Given the description of an element on the screen output the (x, y) to click on. 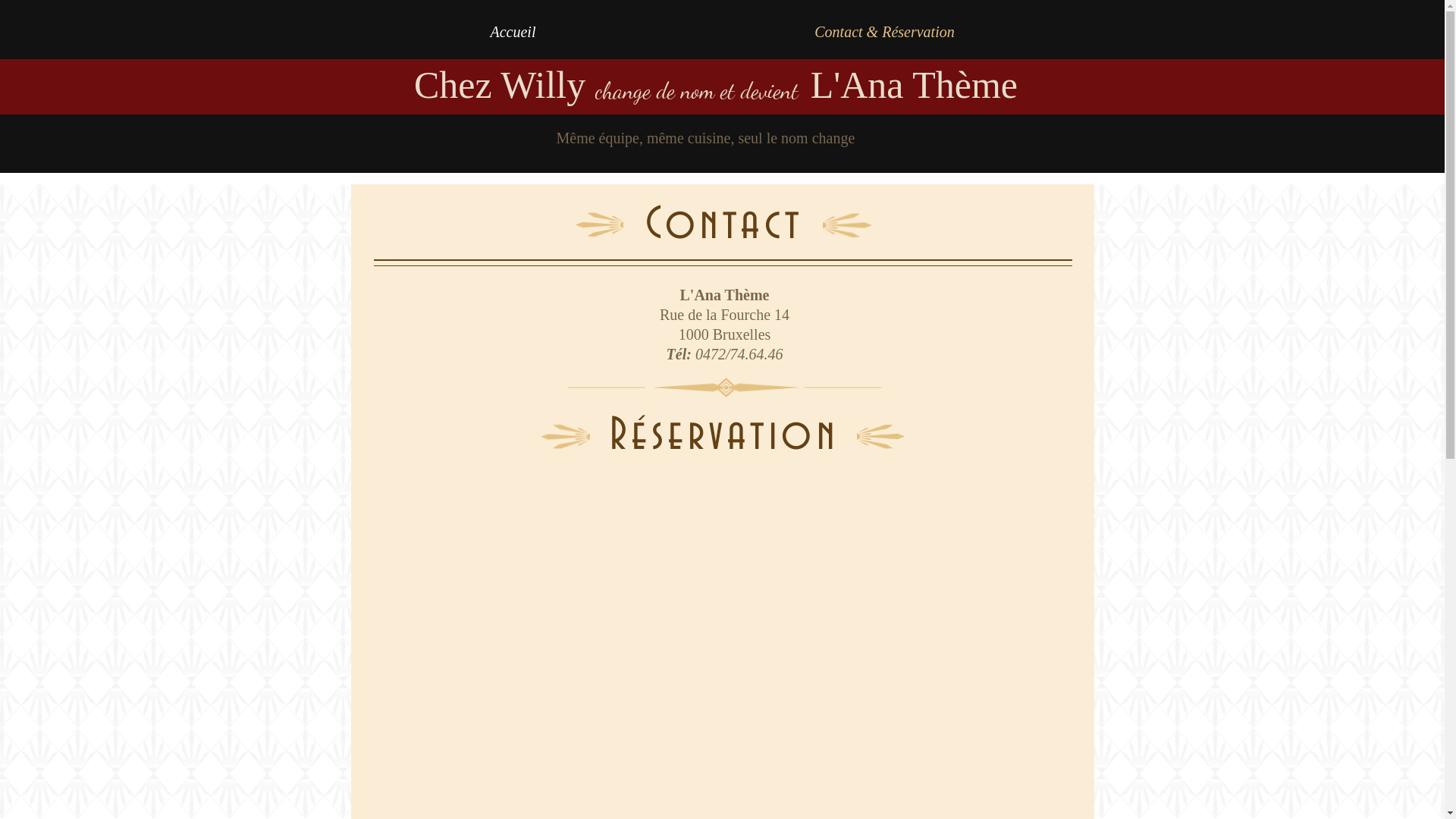
Accueil Element type: text (512, 32)
0472/74.64.46 Element type: text (739, 353)
